Given the description of an element on the screen output the (x, y) to click on. 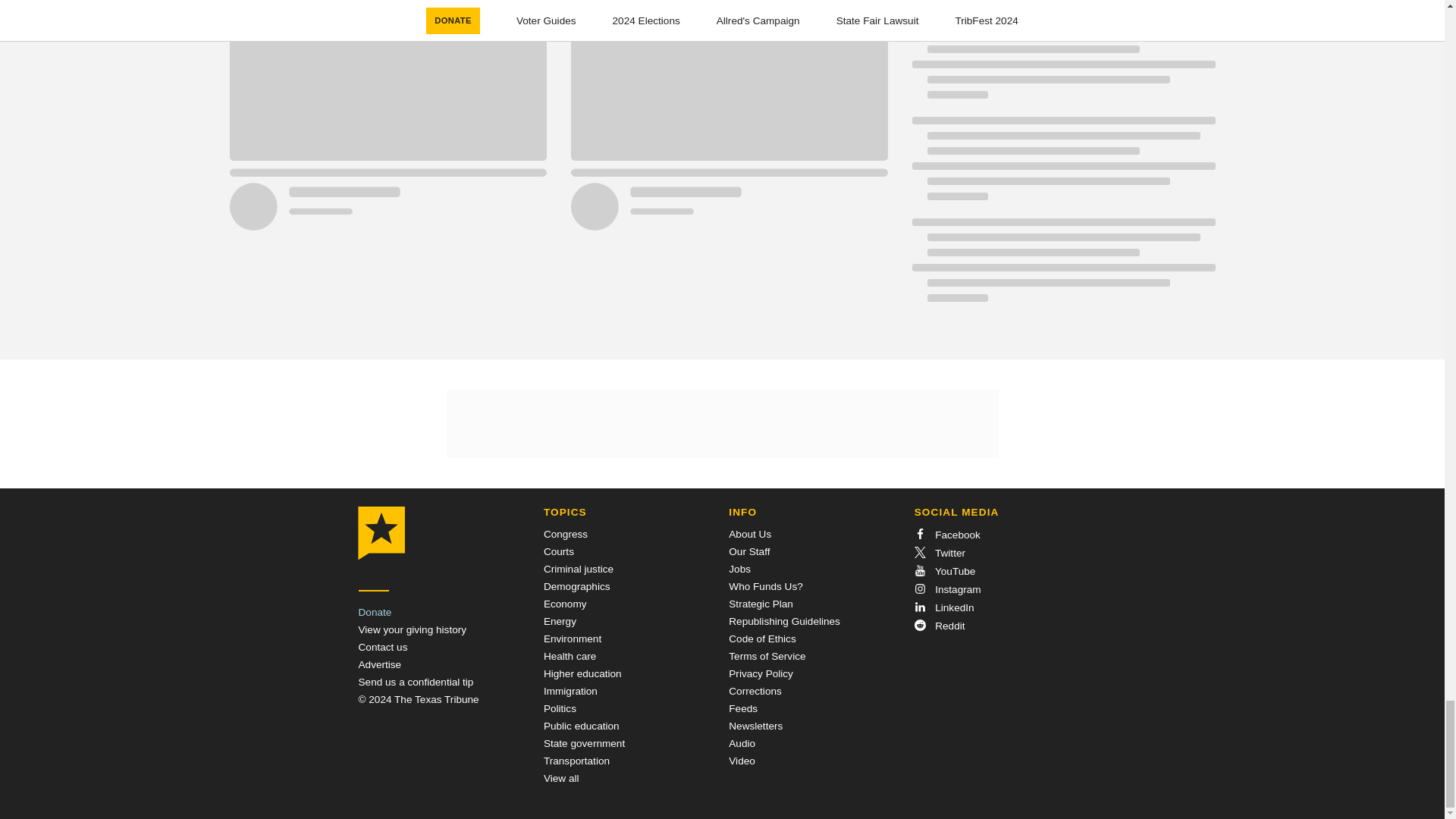
Strategic Plan (761, 603)
Loading indicator (1062, 267)
Contact us (382, 646)
Audio (742, 743)
Feeds (743, 708)
Send a Tip (415, 681)
Corrections (755, 690)
Republishing Guidelines (784, 621)
Advertise (379, 664)
Who Funds Us? (765, 586)
